Given the description of an element on the screen output the (x, y) to click on. 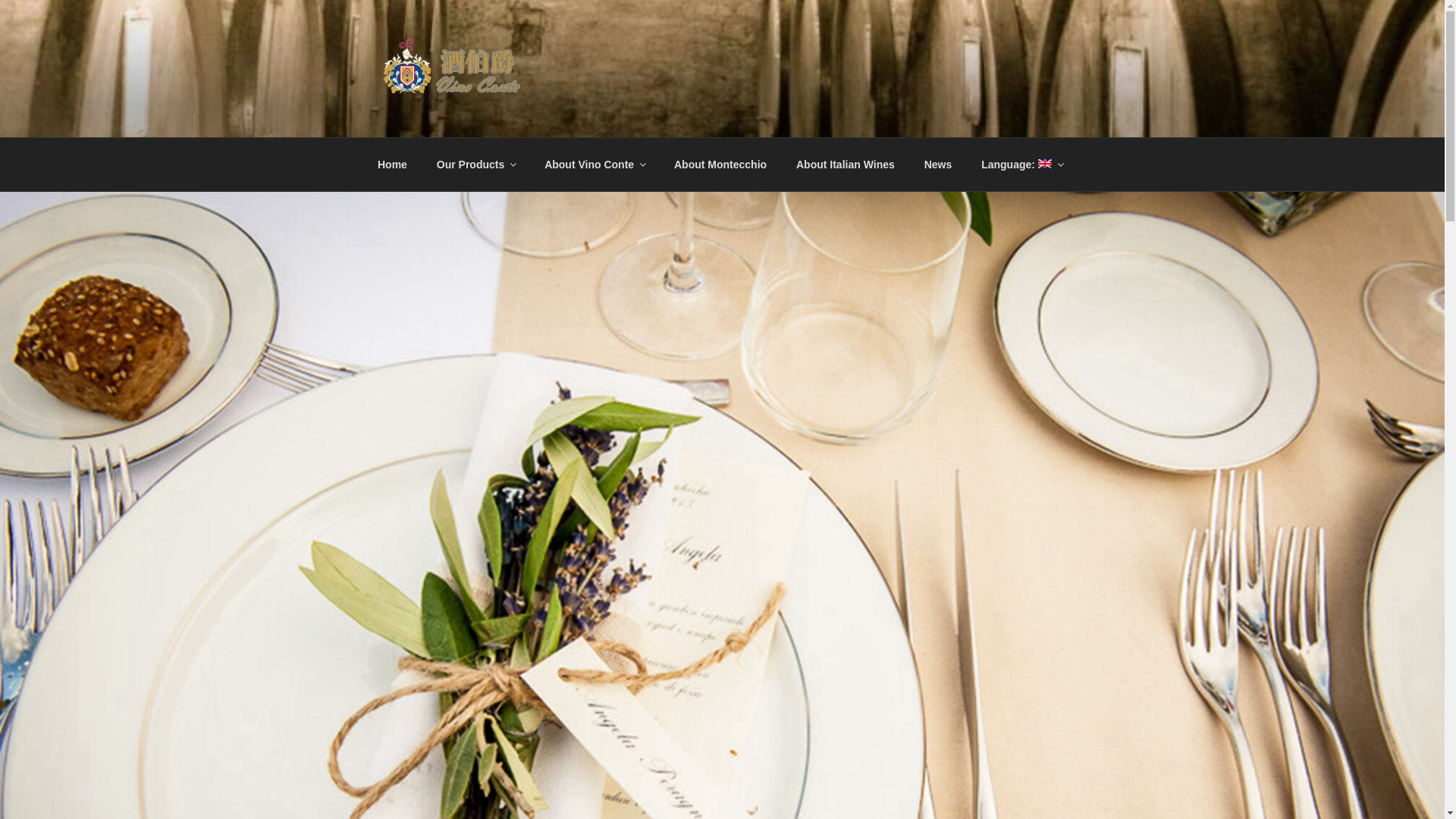
Home (392, 163)
Our Products (475, 163)
English (1021, 163)
